Given the description of an element on the screen output the (x, y) to click on. 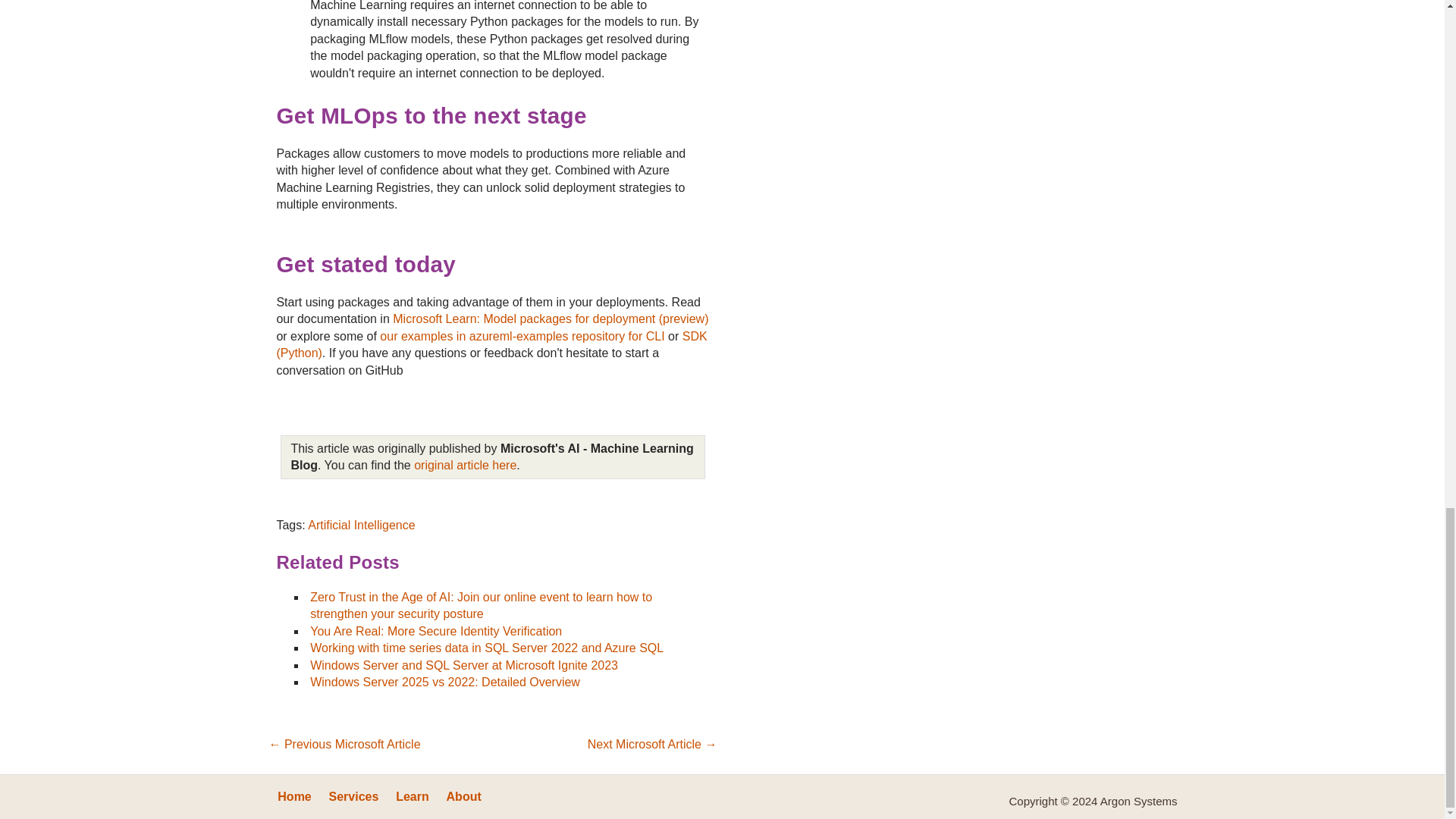
Windows Server and SQL Server at Microsoft Ignite 2023 (463, 665)
Artificial Intelligence (360, 524)
You Are Real: More Secure Identity Verification (436, 631)
Artificial Intelligence (360, 524)
Windows Server 2025 vs 2022: Detailed Overview (444, 681)
New CISA Stop Ransomware Guide (652, 746)
